Given the description of an element on the screen output the (x, y) to click on. 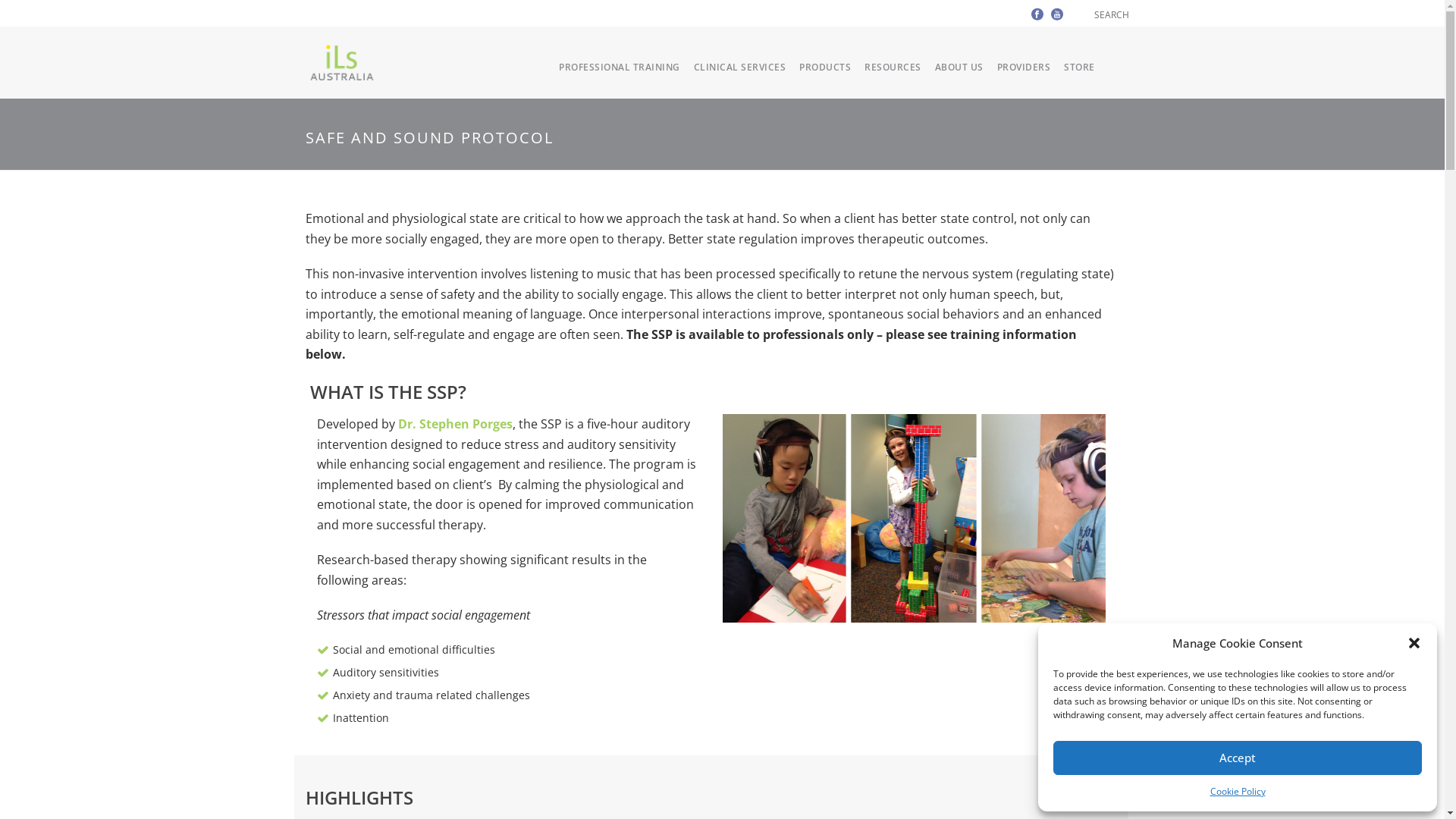
Accept Element type: text (1237, 757)
PROVIDERS Element type: text (1023, 66)
Dr. Stephen Porges Element type: text (454, 423)
STORE Element type: text (1079, 66)
Safe and Sound Protocol Element type: hover (912, 518)
PRODUCTS Element type: text (824, 66)
CLINICAL SERVICES Element type: text (739, 66)
ABOUT US Element type: text (958, 66)
PROFESSIONAL TRAINING Element type: text (619, 66)
RESOURCES Element type: text (892, 66)
Multi-sensory Listening Therapy for Autism, LD, ADHS and SPD Element type: hover (340, 62)
Cookie Policy Element type: text (1237, 791)
